Given the description of an element on the screen output the (x, y) to click on. 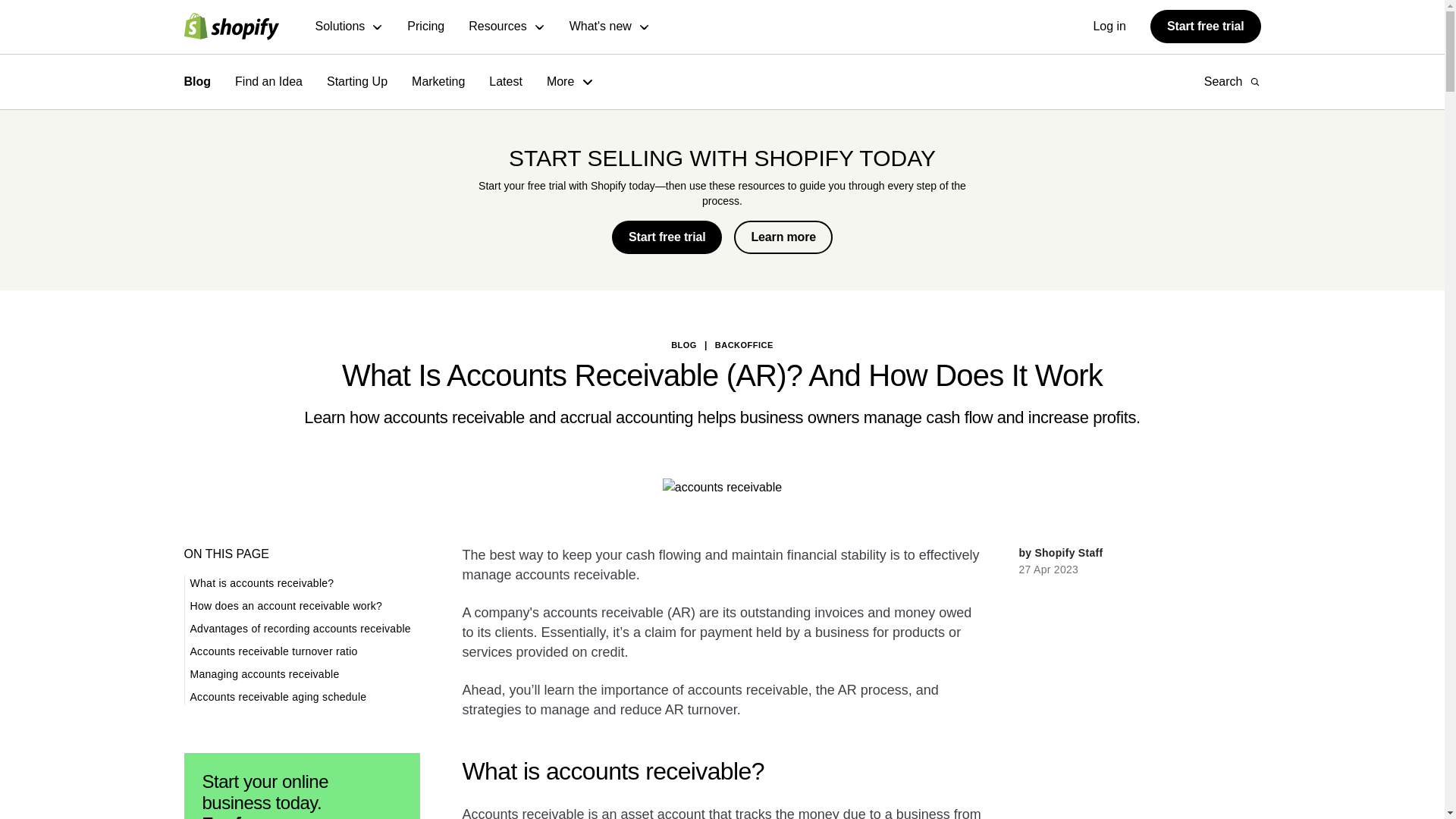
Pricing (425, 27)
Resources (506, 27)
Solutions (349, 27)
